Given the description of an element on the screen output the (x, y) to click on. 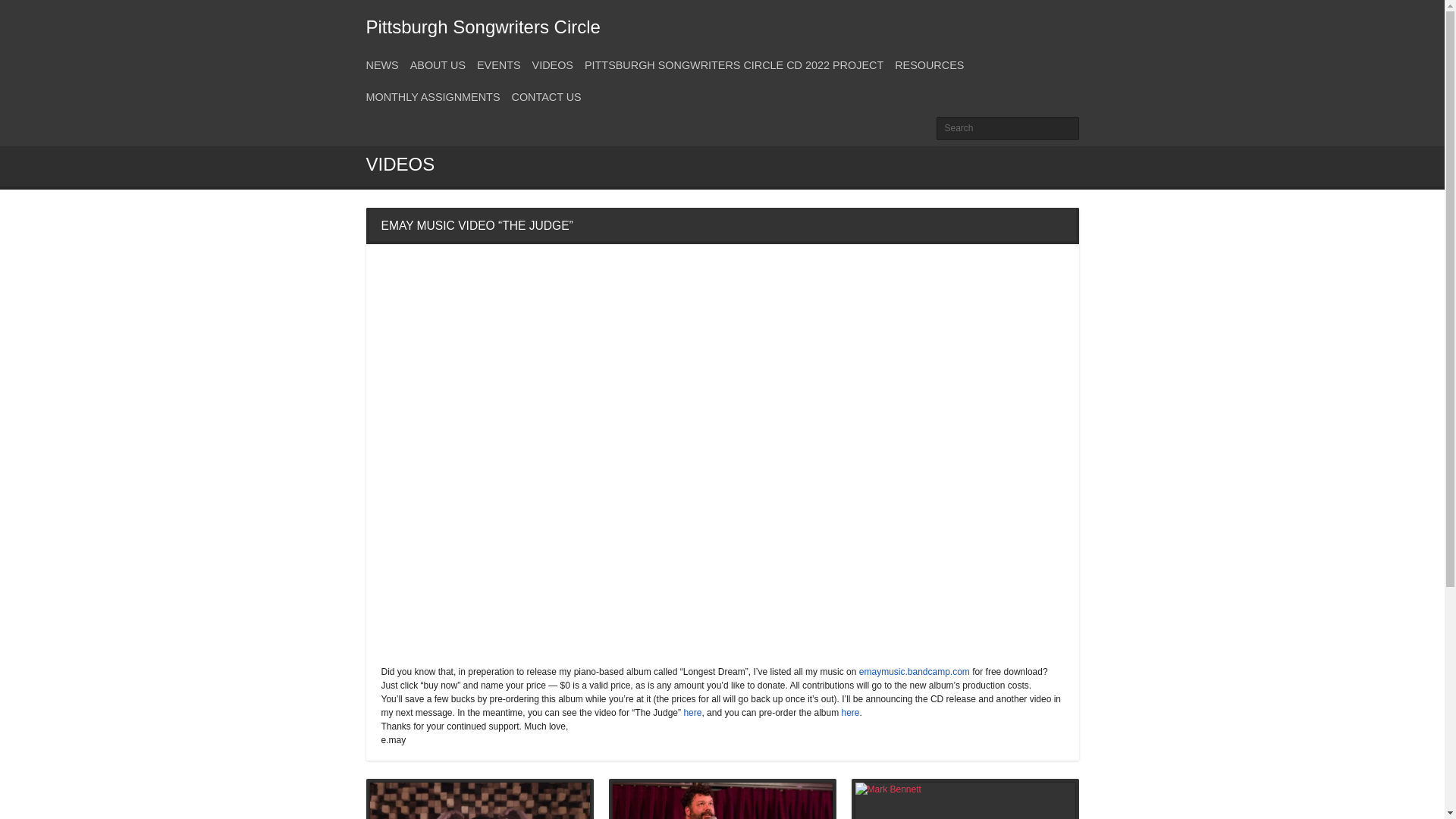
here (850, 712)
NEWS (381, 65)
Dori Cameron - music video "Violent Muse" (479, 800)
ABOUT US (437, 65)
CONTACT US (545, 97)
emaymusic.bandcamp.com (914, 671)
Dennis Malley performing his original song "Nurse" (722, 800)
here (691, 712)
RESOURCES (929, 65)
Search (1007, 128)
EVENTS (499, 65)
Mark Bennett Playing his Way Too Late (965, 800)
Pittsburgh Songwriters Circle (482, 26)
VIDEOS (552, 65)
MONTHLY ASSIGNMENTS (432, 97)
